Given the description of an element on the screen output the (x, y) to click on. 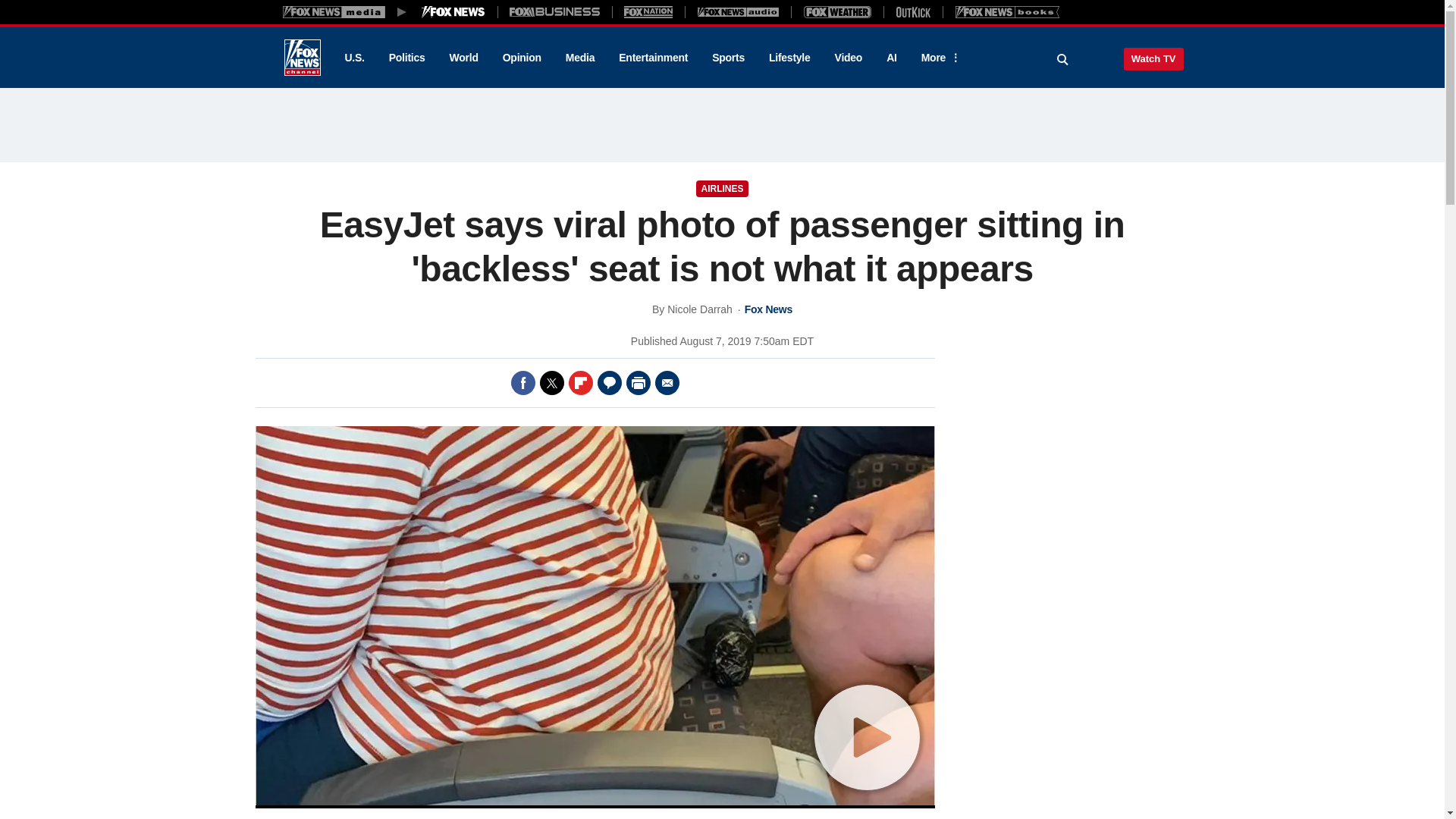
Sports (728, 57)
Fox News Audio (737, 11)
Fox News Media (453, 11)
Fox News (301, 57)
Lifestyle (789, 57)
More (938, 57)
Media (580, 57)
World (464, 57)
Watch TV (1153, 58)
Entertainment (653, 57)
